Given the description of an element on the screen output the (x, y) to click on. 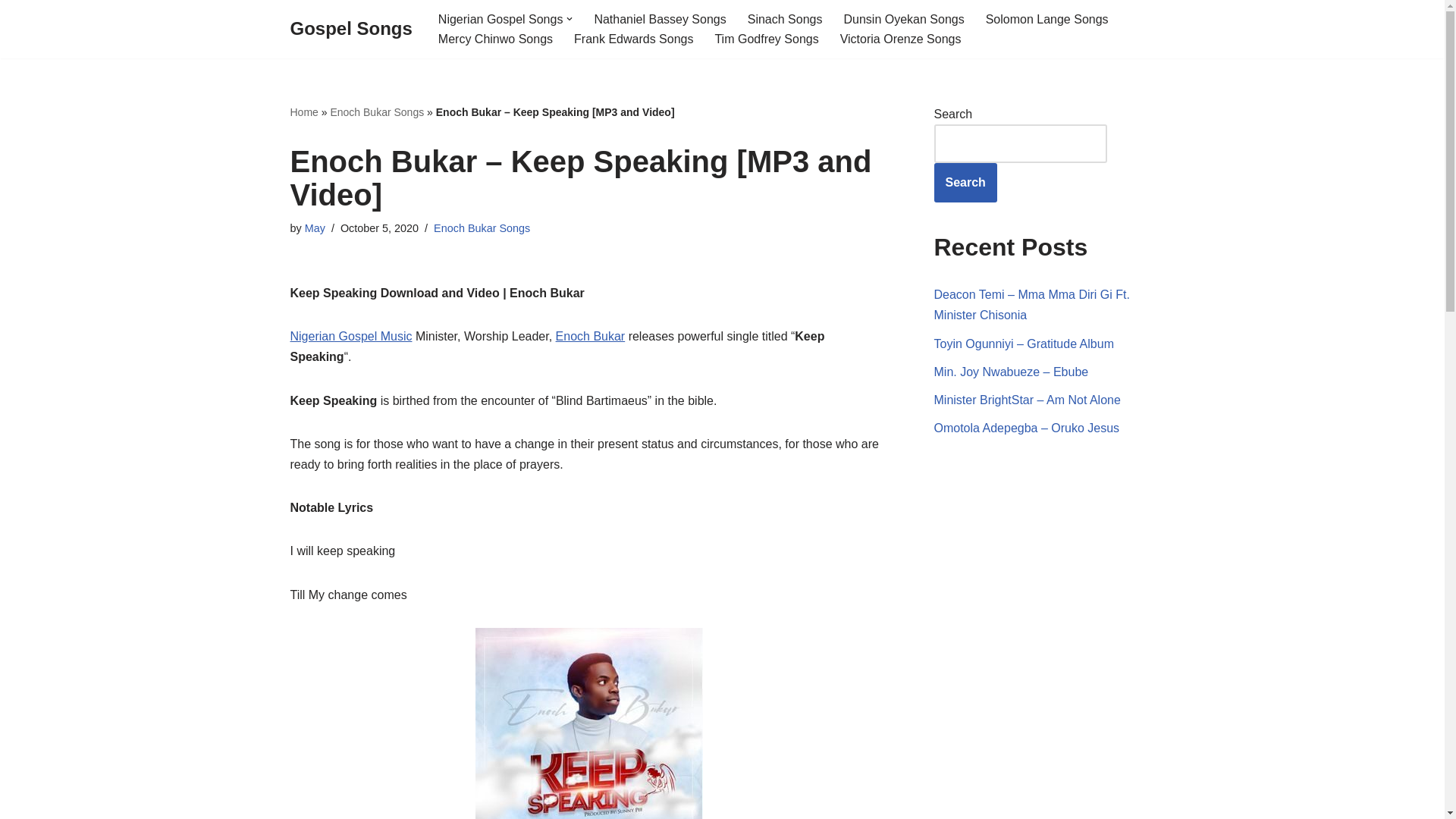
Enoch Bukar Songs (376, 111)
Enoch Bukar Songs (481, 227)
May (314, 227)
Victoria Orenze Songs (900, 38)
Posts by May (314, 227)
Solomon Lange Songs (1046, 19)
Nathaniel Bassey Songs (659, 19)
Nigerian Gospel Music (350, 336)
Gospel Songs (350, 29)
Tim Godfrey Songs (766, 38)
